Given the description of an element on the screen output the (x, y) to click on. 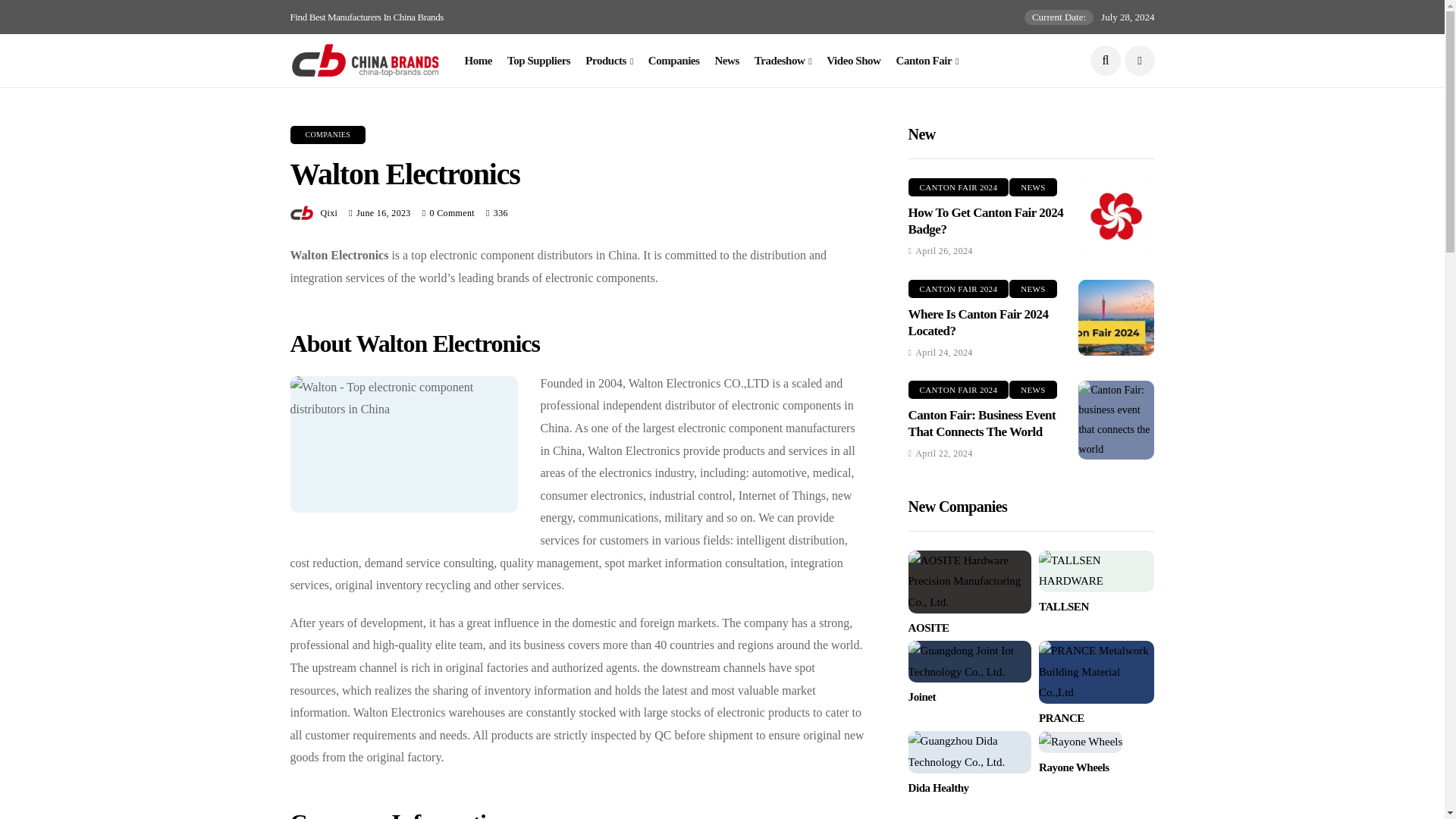
Canton Fair: business event that connects the world (1116, 419)
Posts by Qixi (328, 213)
Video Show (853, 60)
Where is Canton Fair 2024 located? (1116, 317)
AOSITE (969, 581)
How to Get Canton Fair 2024 Badge? (1116, 215)
PRANCE (1096, 671)
Joinet (969, 661)
Products (609, 60)
Canton Fair (927, 60)
Top Suppliers (538, 60)
Companies (673, 60)
Find Best Manufacturers In China Brands (366, 17)
TALLSEN (1096, 571)
Tradeshow (782, 60)
